Given the description of an element on the screen output the (x, y) to click on. 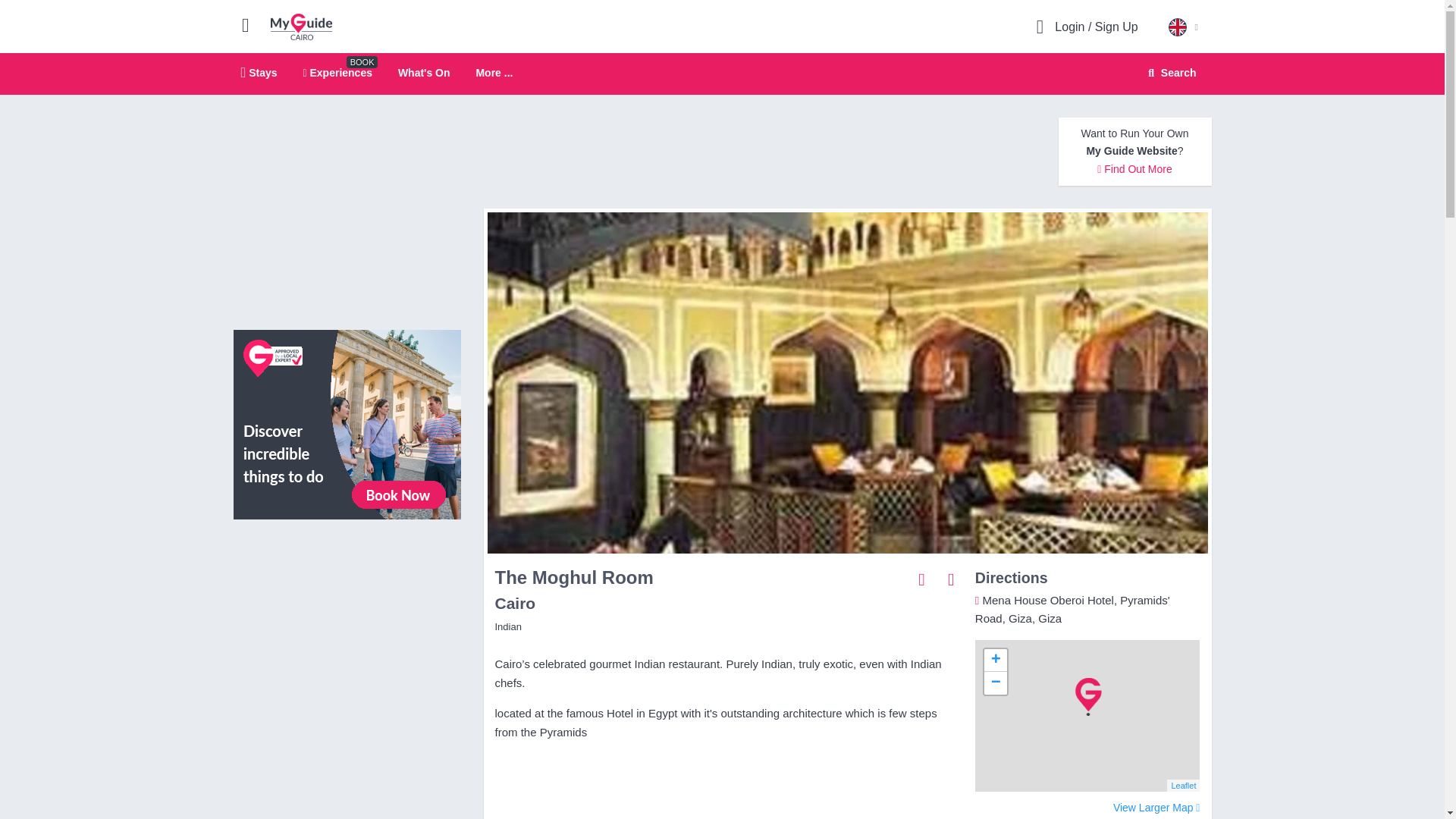
Zoom in (995, 660)
Experiences (337, 72)
Stays (721, 74)
More ... (259, 72)
What's On (494, 72)
View All Experiences (423, 72)
Larger Map for Company: The Moghul Room Cairo (346, 423)
Zoom out (1156, 808)
The Moghul Room (995, 682)
A JS library for interactive maps (300, 25)
Search (1182, 785)
GetYourGuide Widget (1169, 72)
